Given the description of an element on the screen output the (x, y) to click on. 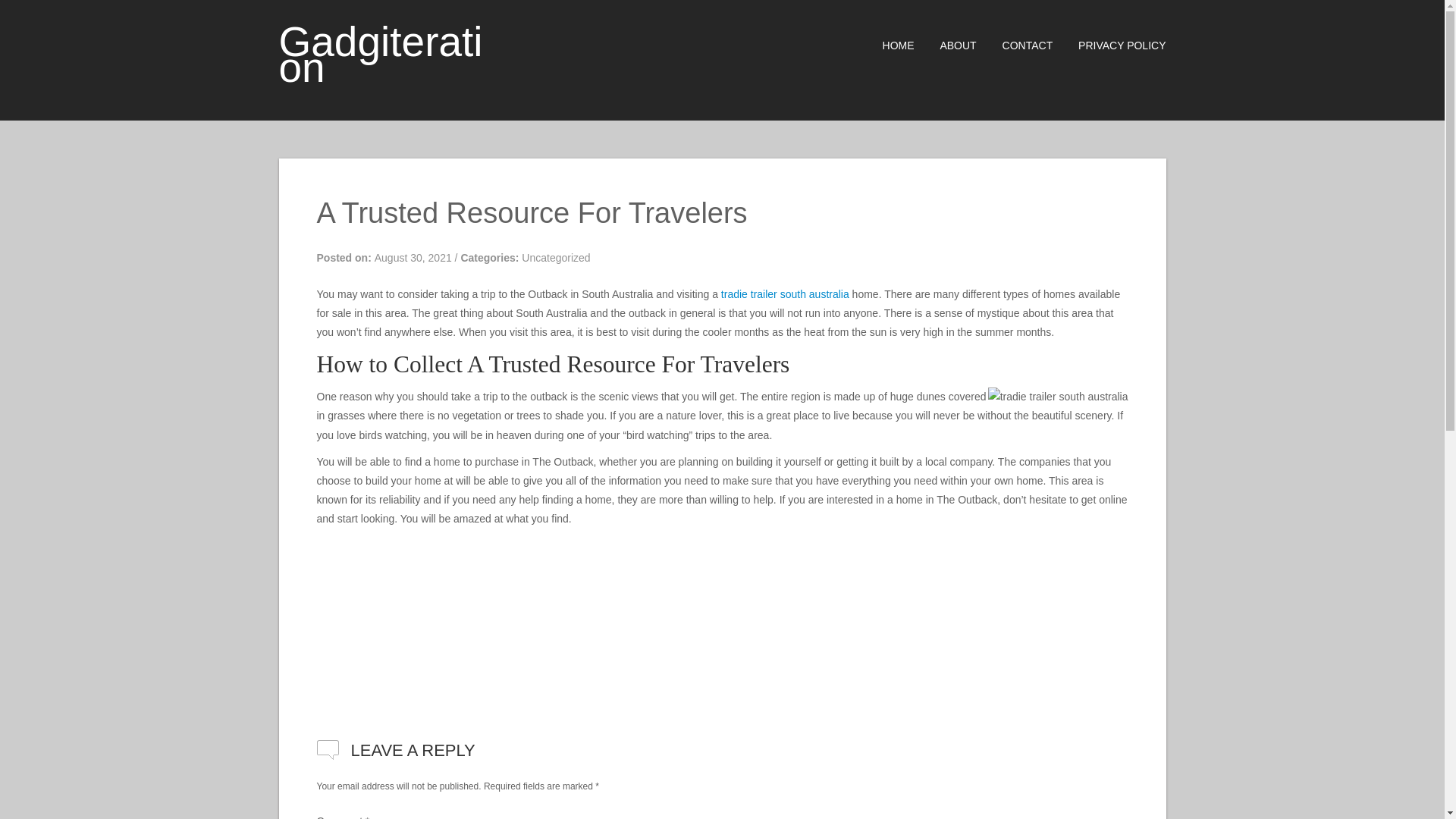
Gadgiteration (381, 54)
Gadgiteration (381, 54)
Uncategorized (555, 257)
tradie trailer south australia (784, 294)
PRIVACY POLICY (1110, 45)
